Given the description of an element on the screen output the (x, y) to click on. 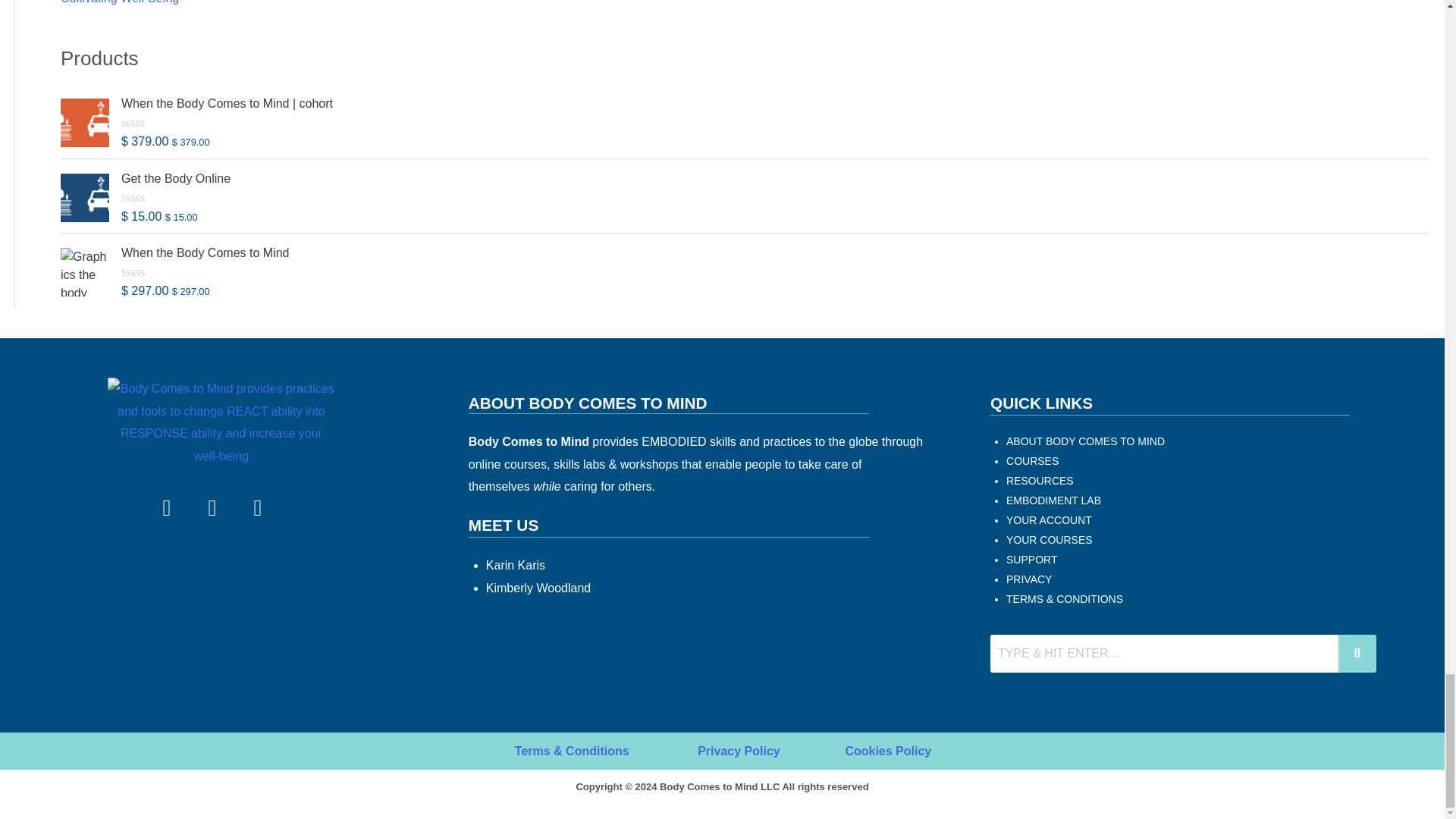
Get the Body Online (774, 178)
Search (1164, 653)
Cultivating Well-Being (120, 2)
